Given the description of an element on the screen output the (x, y) to click on. 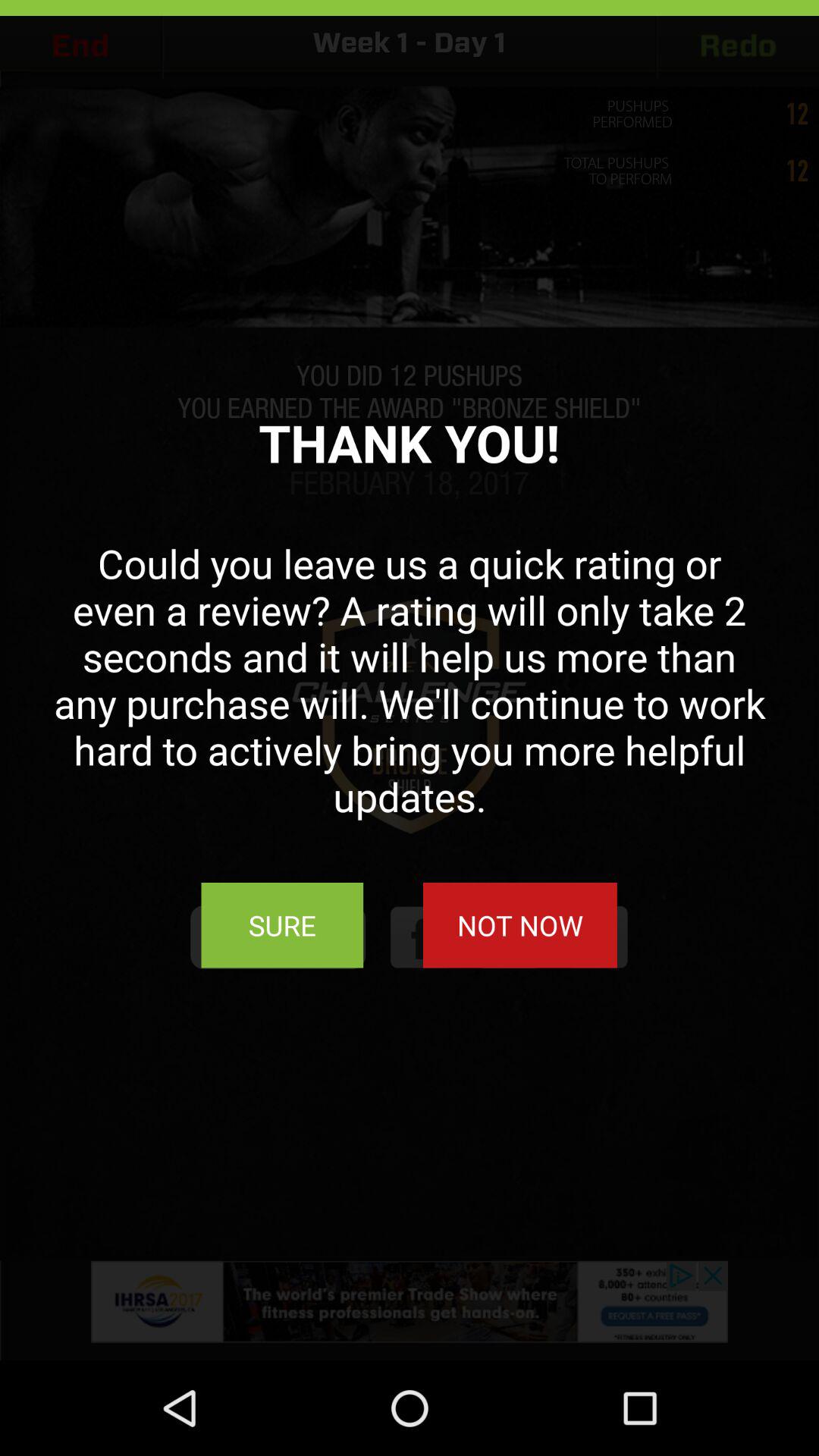
tap the item to the left of not now button (282, 925)
